Given the description of an element on the screen output the (x, y) to click on. 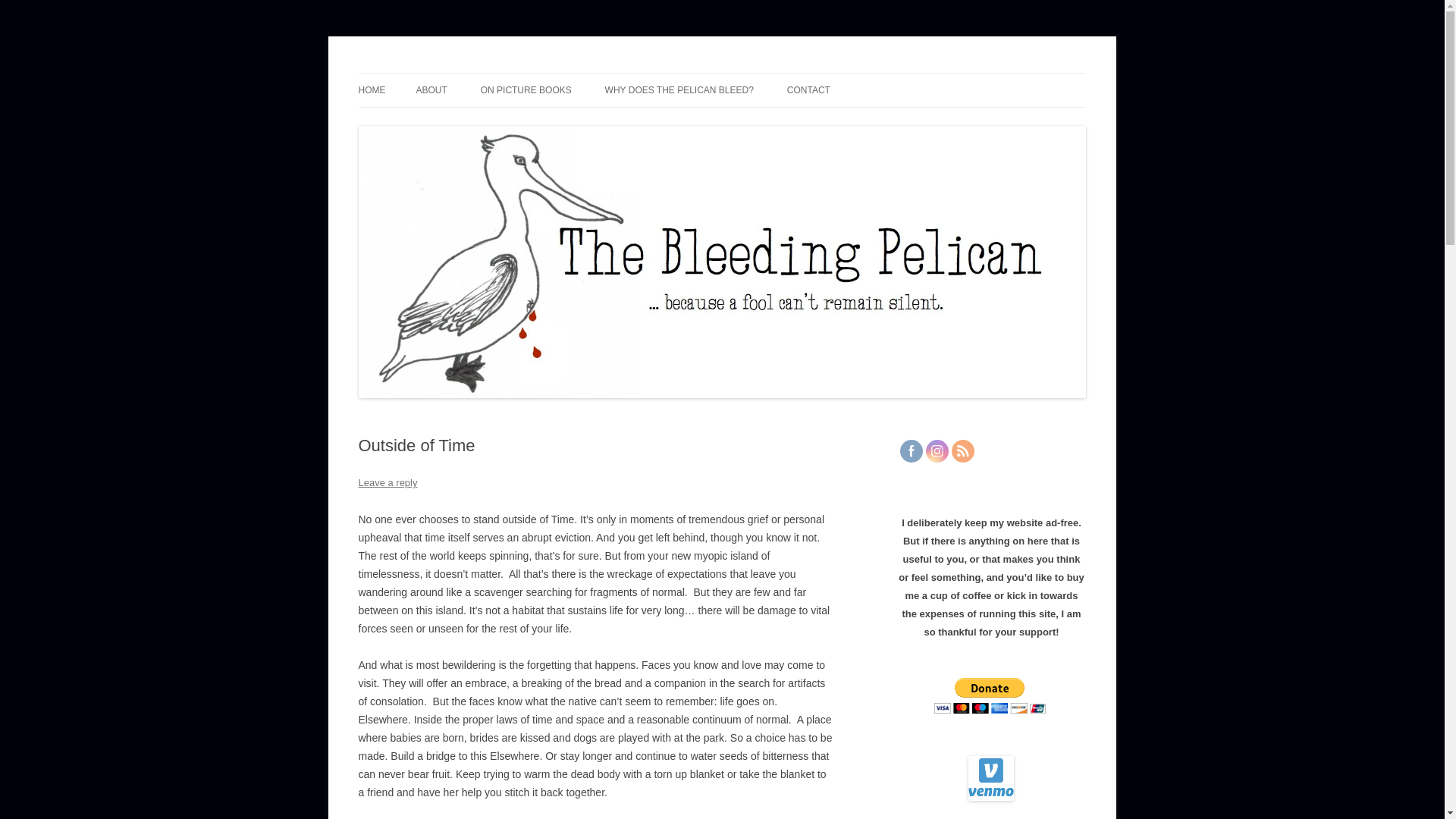
The Bleeding Pelican (457, 72)
ON PICTURE BOOKS (526, 90)
WHY DOES THE PELICAN BLEED? (679, 90)
Facebook (910, 450)
The Bleeding Pelican (457, 72)
CONTACT (808, 90)
ABOUT (430, 90)
Leave a reply (387, 482)
